Given the description of an element on the screen output the (x, y) to click on. 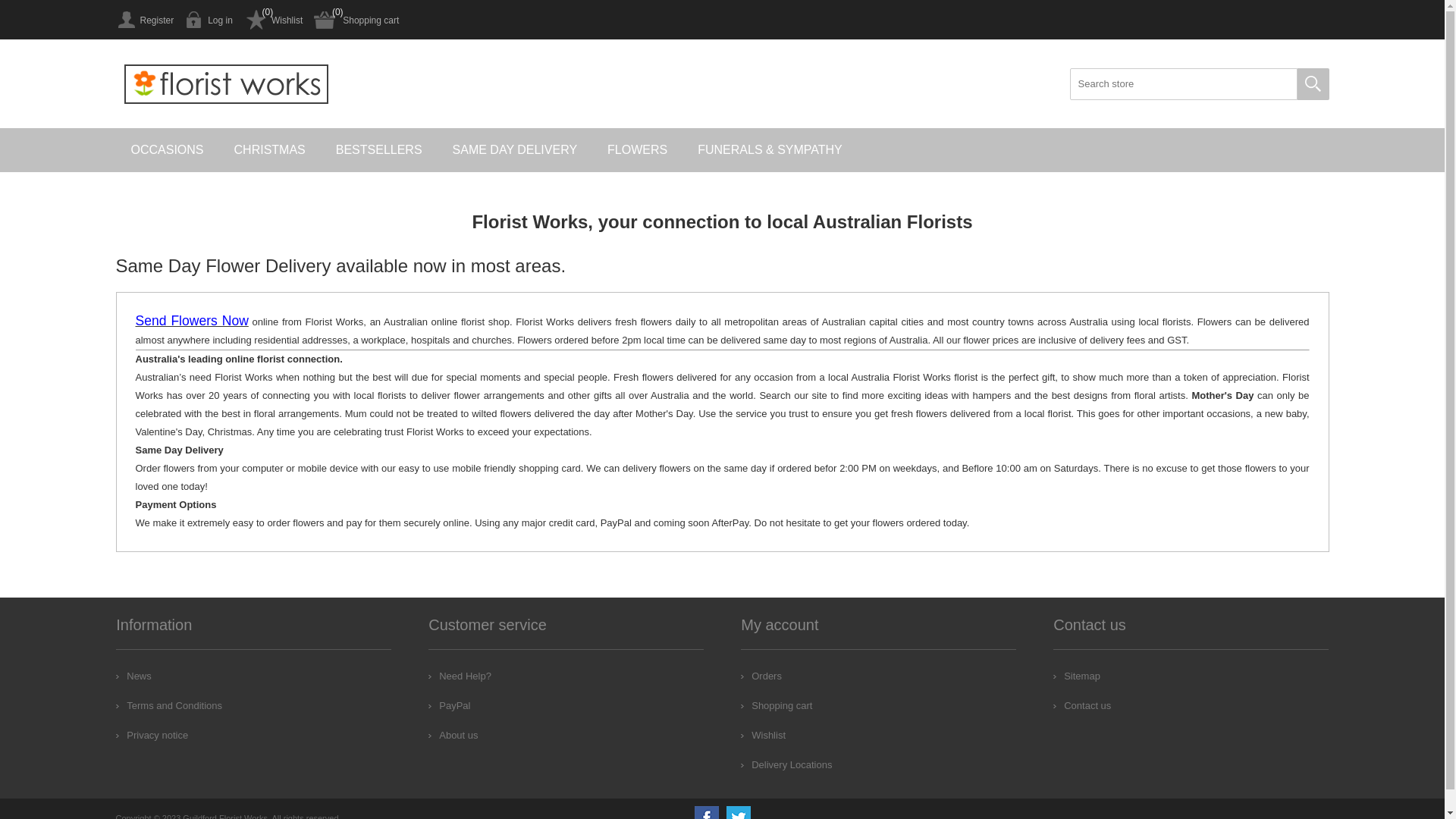
FUNERALS & SYMPATHY Element type: text (769, 150)
Register Element type: text (144, 19)
Contact us Element type: text (1081, 705)
SAME DAY DELIVERY Element type: text (515, 150)
FLOWERS Element type: text (637, 150)
BESTSELLERS Element type: text (378, 150)
Wishlist Element type: text (273, 19)
Sitemap Element type: text (1076, 675)
Send Flowers Now Element type: text (190, 321)
OCCASIONS Element type: text (166, 150)
Search Element type: text (1312, 84)
Shopping cart Element type: text (355, 19)
News Element type: text (133, 675)
Log in Element type: text (208, 19)
Need Help? Element type: text (459, 675)
Shopping cart Element type: text (776, 705)
About us Element type: text (452, 734)
CHRISTMAS Element type: text (269, 150)
PayPal Element type: text (449, 705)
Delivery Locations Element type: text (785, 764)
Orders Element type: text (760, 675)
Terms and Conditions Element type: text (169, 705)
Wishlist Element type: text (762, 734)
Privacy notice Element type: text (152, 734)
